Given the description of an element on the screen output the (x, y) to click on. 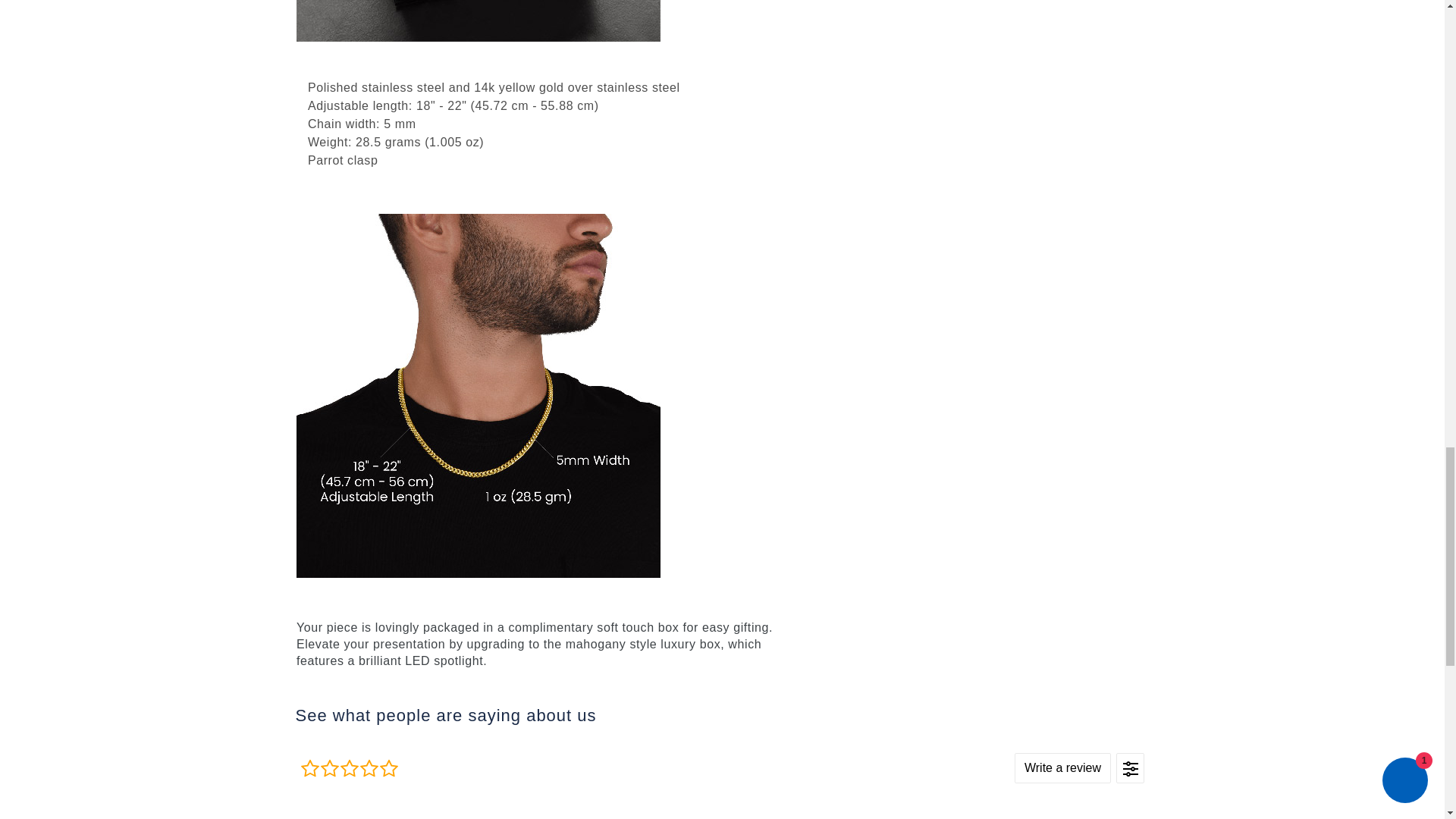
Product reviews widget (722, 778)
